Given the description of an element on the screen output the (x, y) to click on. 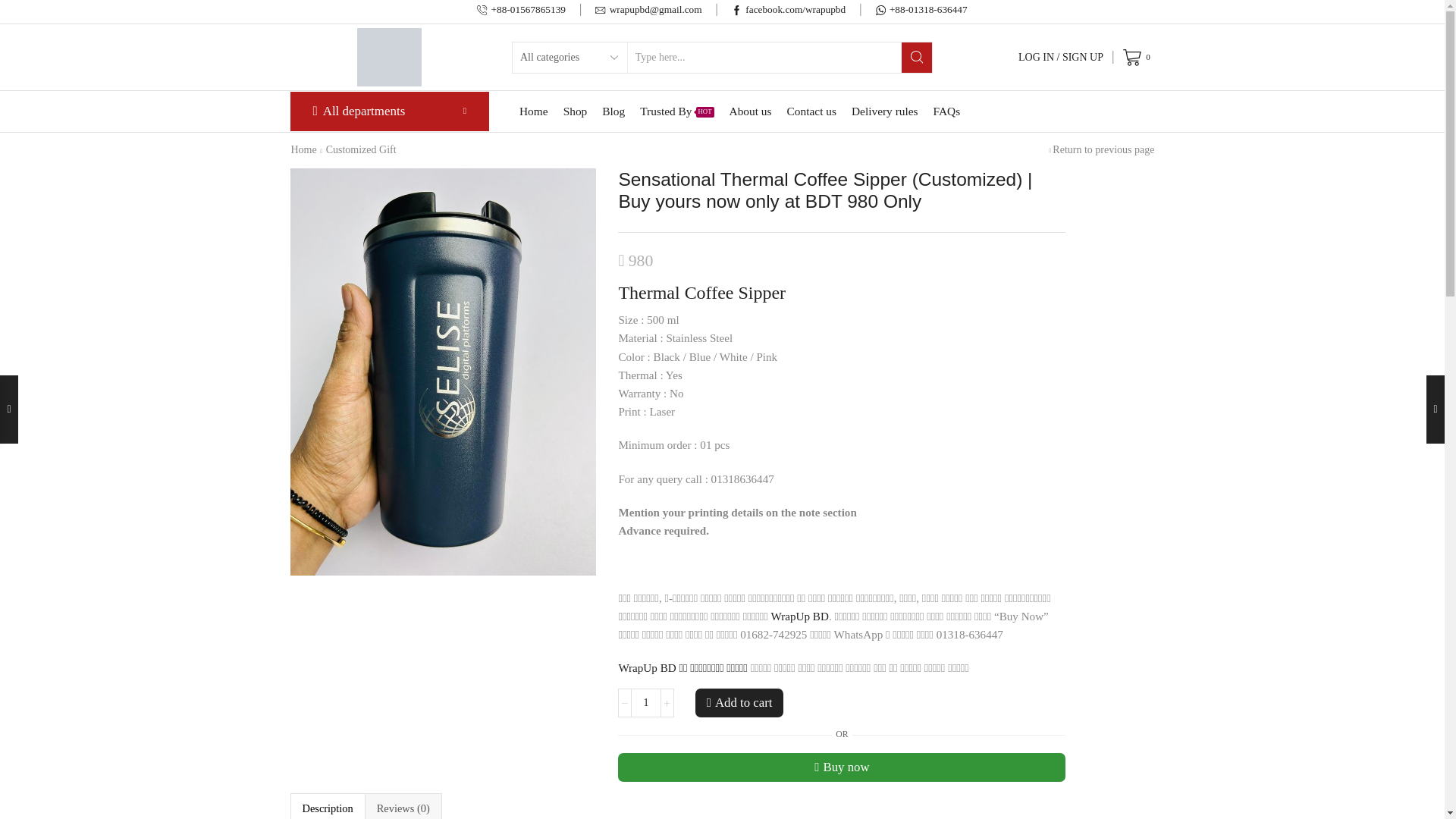
Contact us (811, 110)
1 (646, 702)
Delivery rules (884, 110)
0 (1138, 57)
About us (750, 110)
Trusted ByHOT (676, 110)
